Given the description of an element on the screen output the (x, y) to click on. 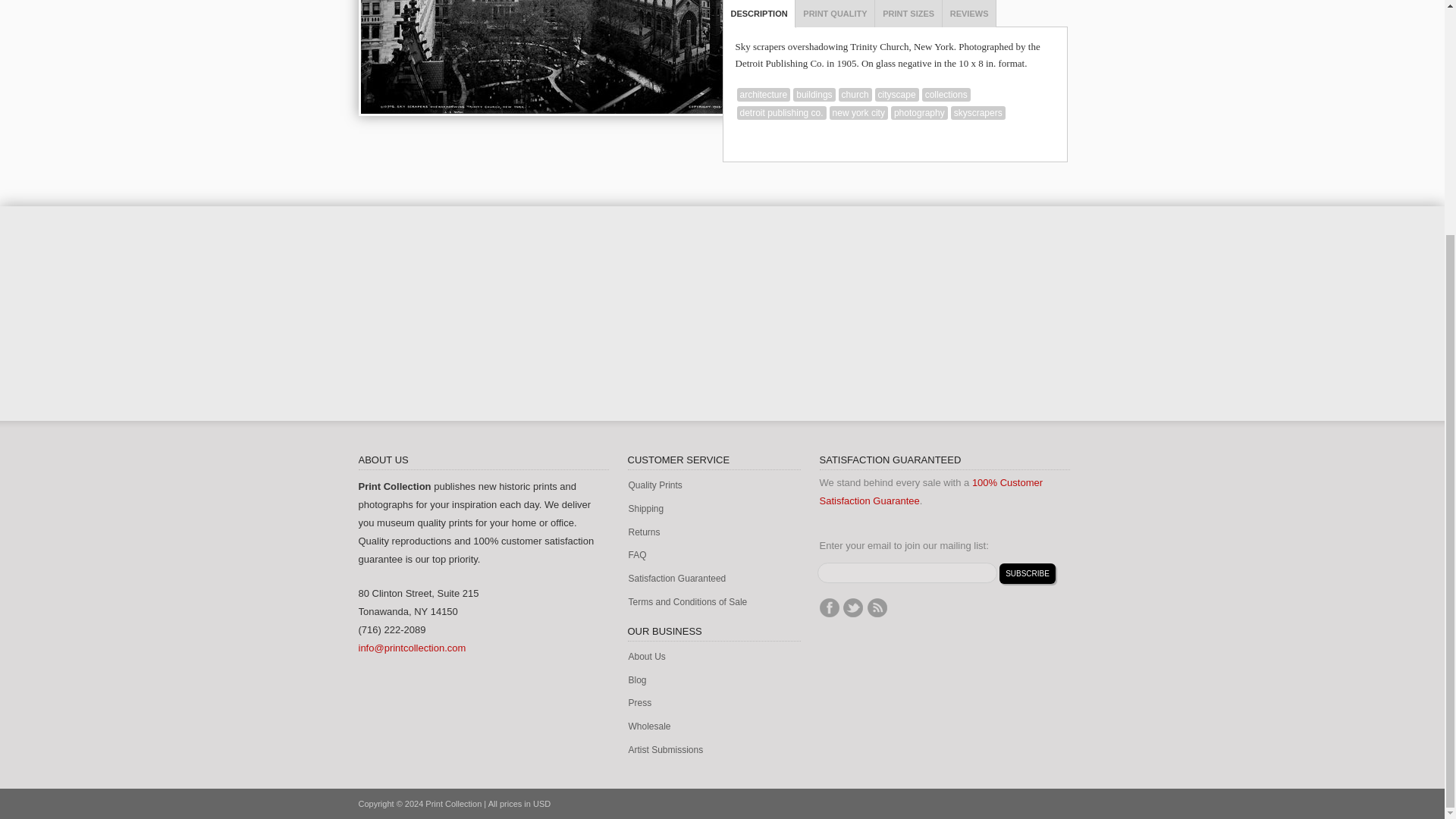
detroit publishing co. (781, 112)
buildings (813, 94)
Subscribe (1026, 573)
new york city (858, 112)
collections (946, 94)
Skyscrapers Overshadow Trinity Church, New York (588, 56)
church (855, 94)
architecture (763, 94)
photography (919, 112)
skyscrapers (978, 112)
cityscape (896, 94)
